Given the description of an element on the screen output the (x, y) to click on. 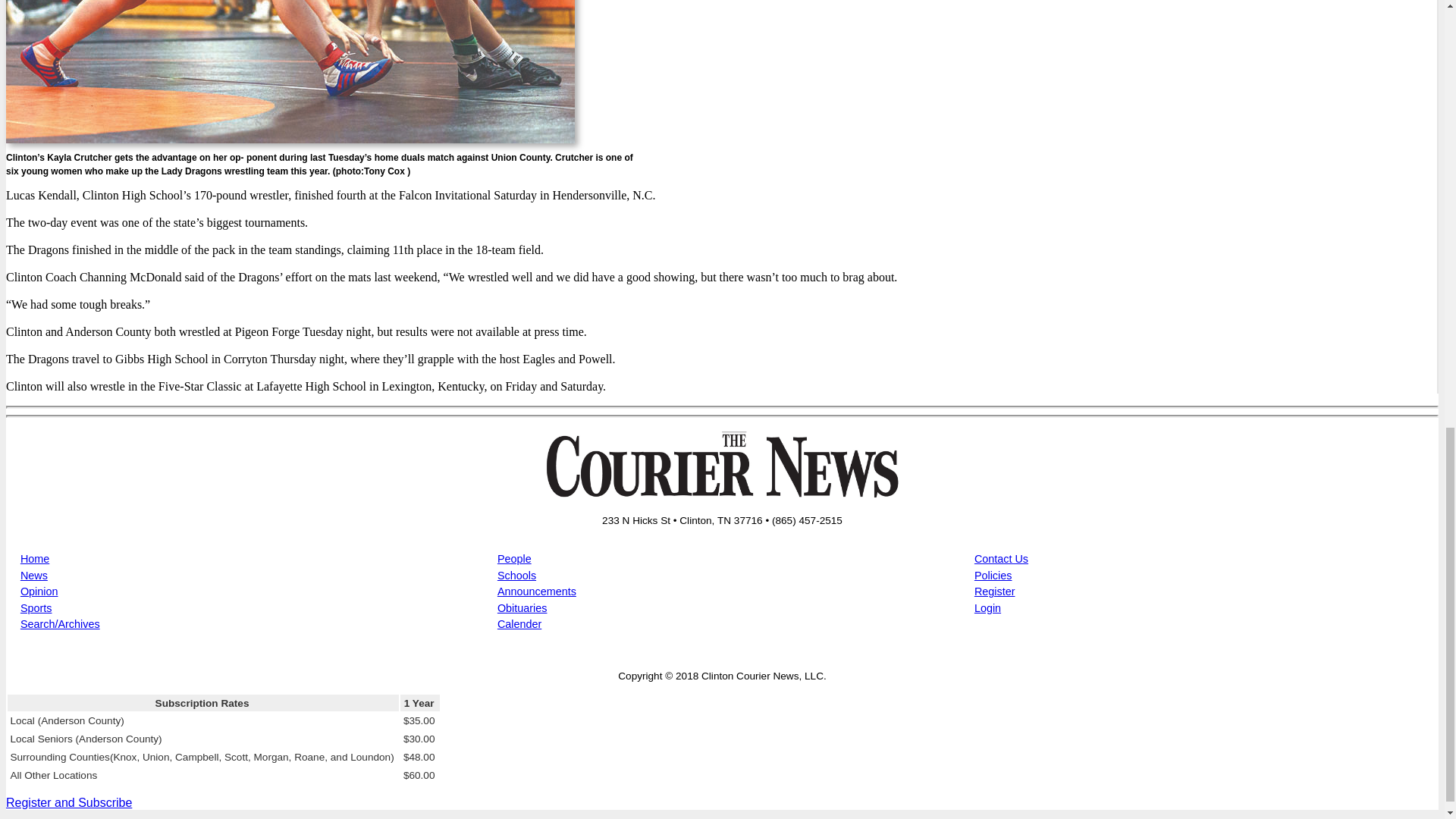
Home (34, 558)
Announcements (536, 591)
Schools (516, 575)
Obituaries (522, 607)
Calender (519, 623)
Opinion (39, 591)
Sports (36, 607)
People (514, 558)
Contact Us (1000, 558)
News (34, 575)
